Given the description of an element on the screen output the (x, y) to click on. 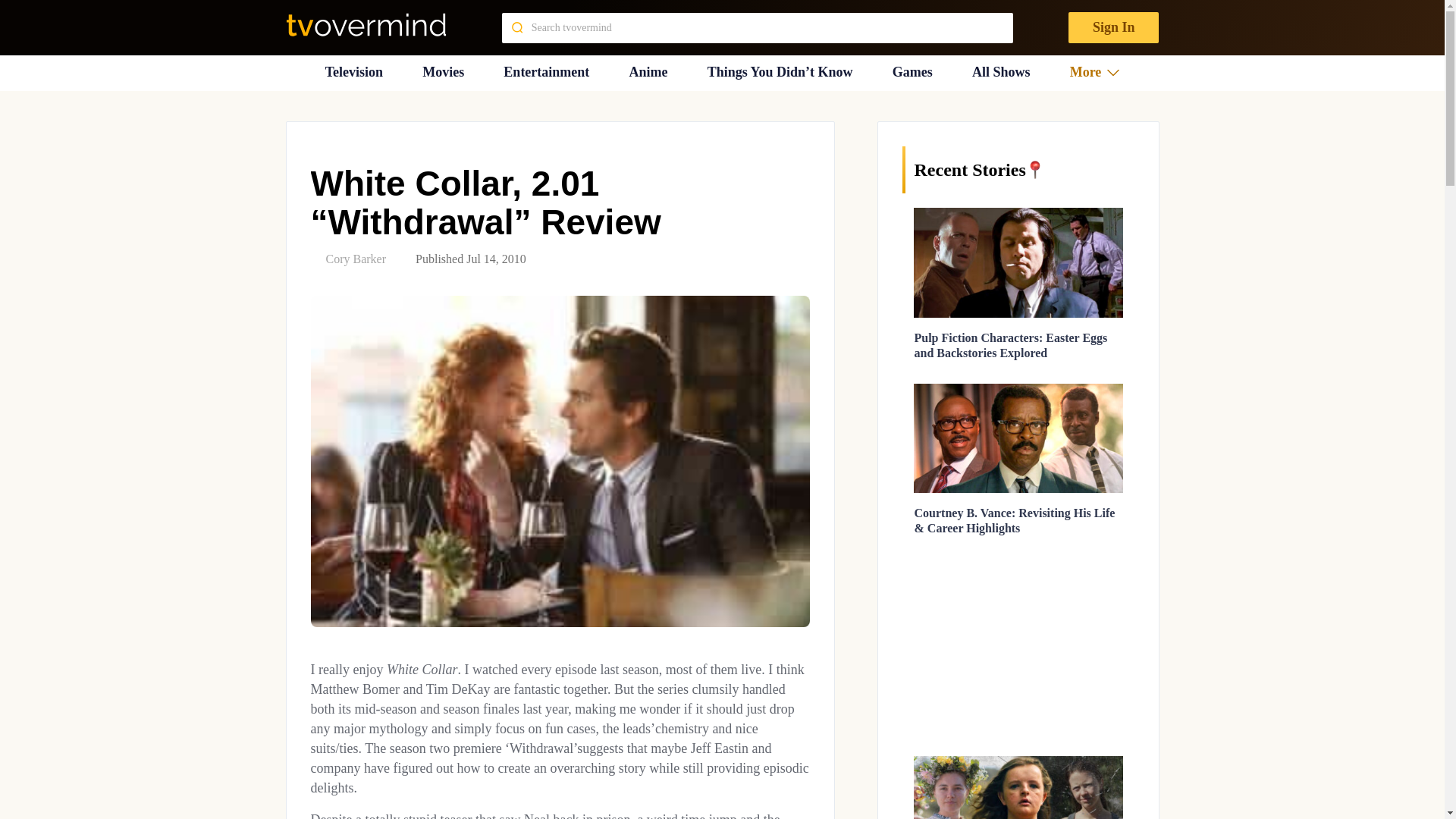
Television (353, 72)
Entertainment (546, 72)
Games (912, 72)
All Shows (1001, 72)
More (1094, 72)
Anime (648, 72)
Posts by Cory Barker (356, 258)
Sign In (1113, 27)
